Given the description of an element on the screen output the (x, y) to click on. 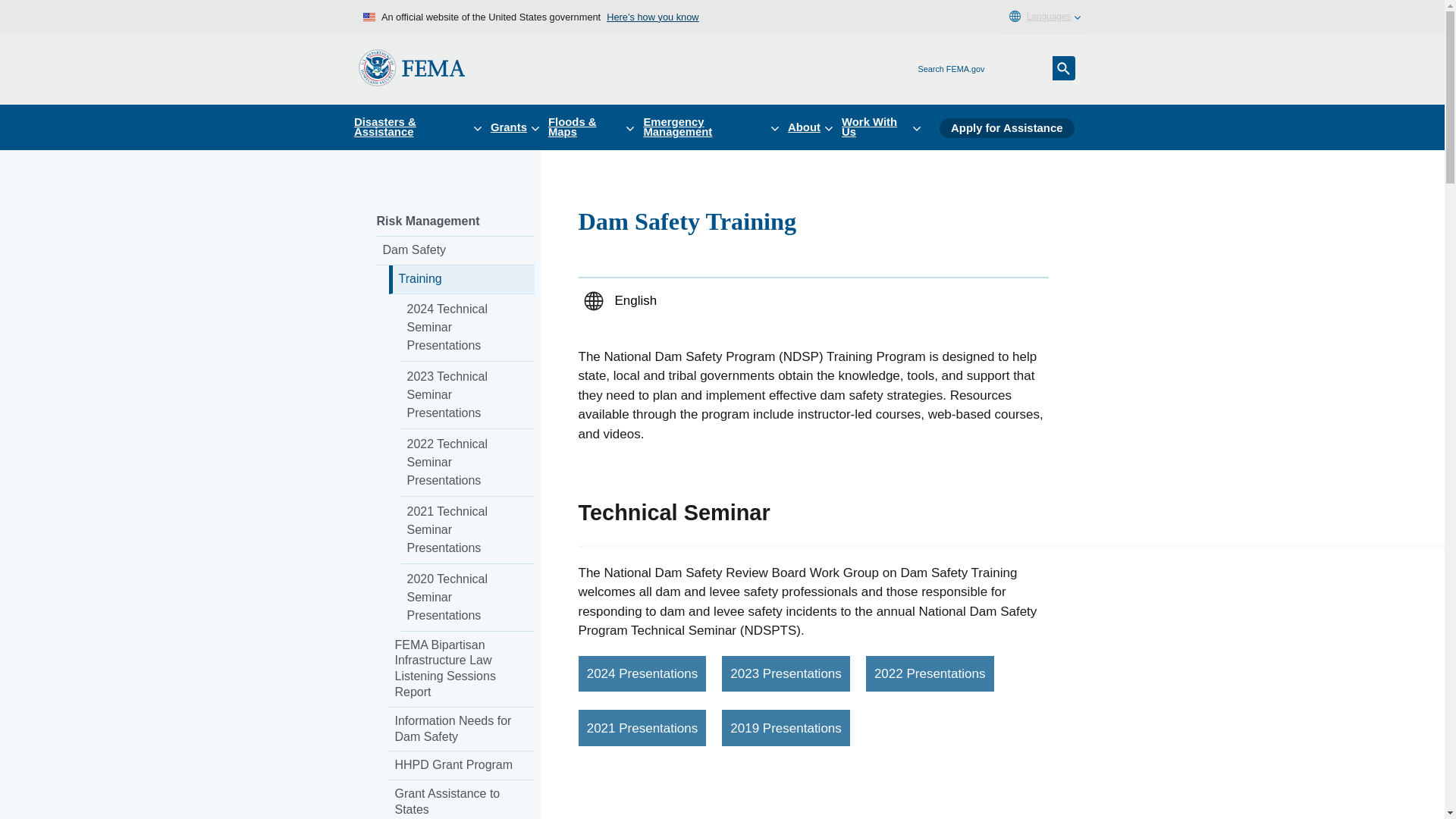
HHPD Grant Program (461, 765)
2024 Technical Seminar Presentations (467, 327)
Languages (1044, 16)
Work With Us (885, 126)
Training (461, 279)
Grant Assistance to States (461, 799)
FEMA Bipartisan Infrastructure Law Listening Sessions Report (461, 669)
Dam Safety (454, 250)
2020 Technical Seminar Presentations (467, 597)
Skip to main content (16, 16)
Apply for Assistance (1006, 127)
Risk Management (454, 222)
Search FEMA.gov (1063, 68)
Grants (519, 126)
Search FEMA.gov (1063, 68)
